Given the description of an element on the screen output the (x, y) to click on. 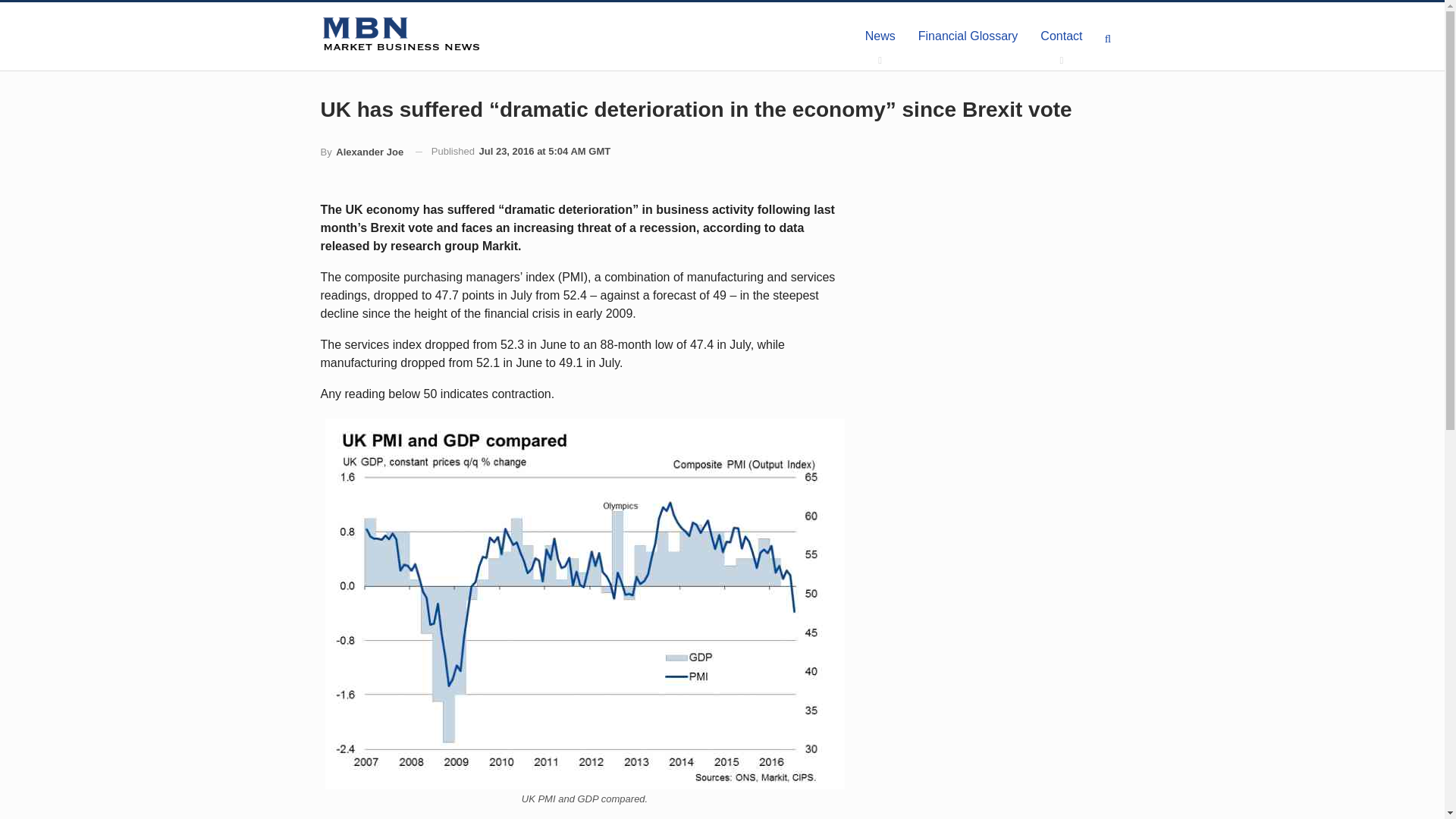
Financial Glossary (968, 36)
By Alexander Joe (361, 152)
Contact (1061, 36)
Browse Author Articles (361, 152)
